Given the description of an element on the screen output the (x, y) to click on. 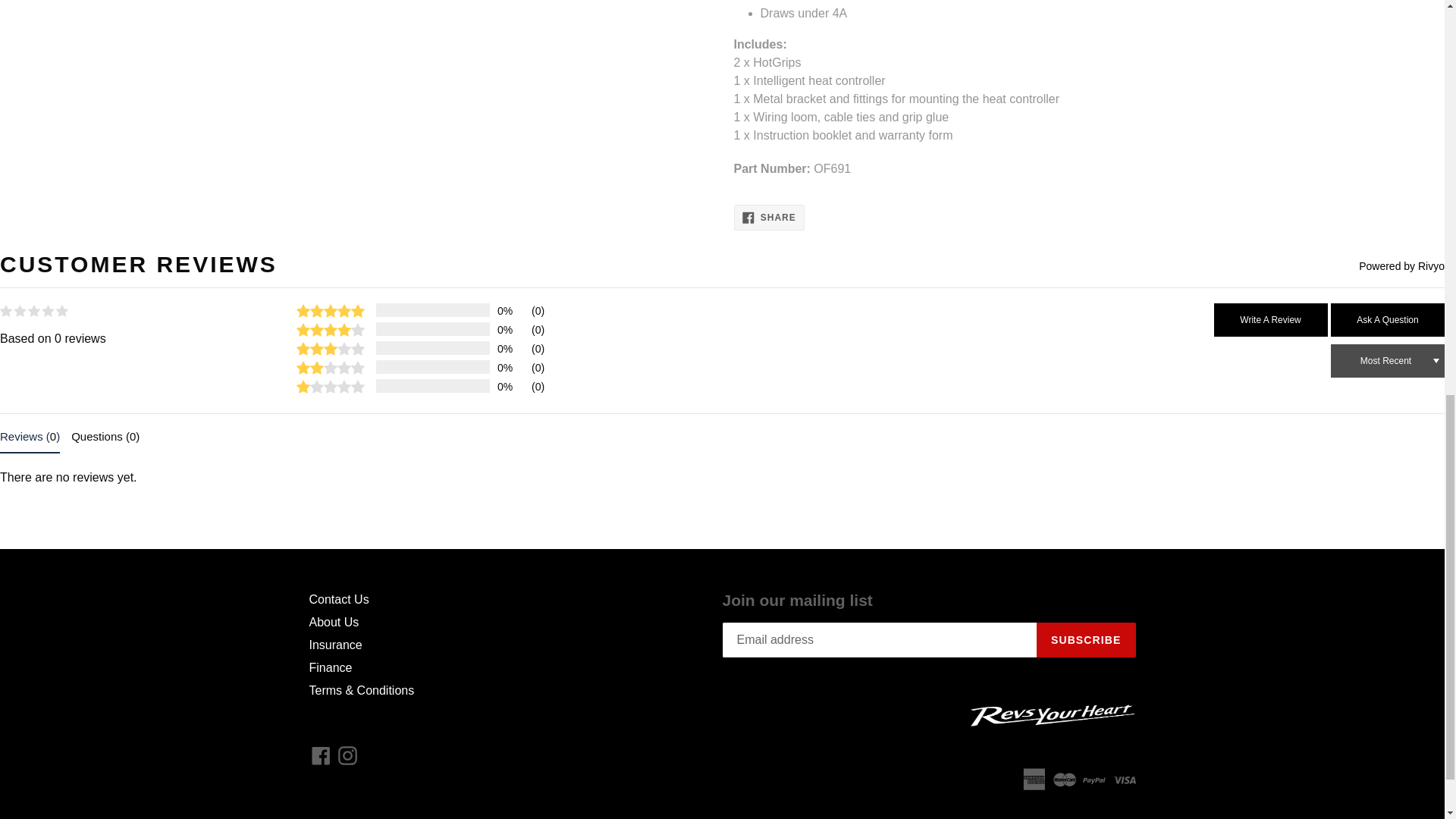
Moto GC on Instagram (347, 755)
Share on Facebook (769, 217)
Moto GC on Facebook (320, 755)
